Given the description of an element on the screen output the (x, y) to click on. 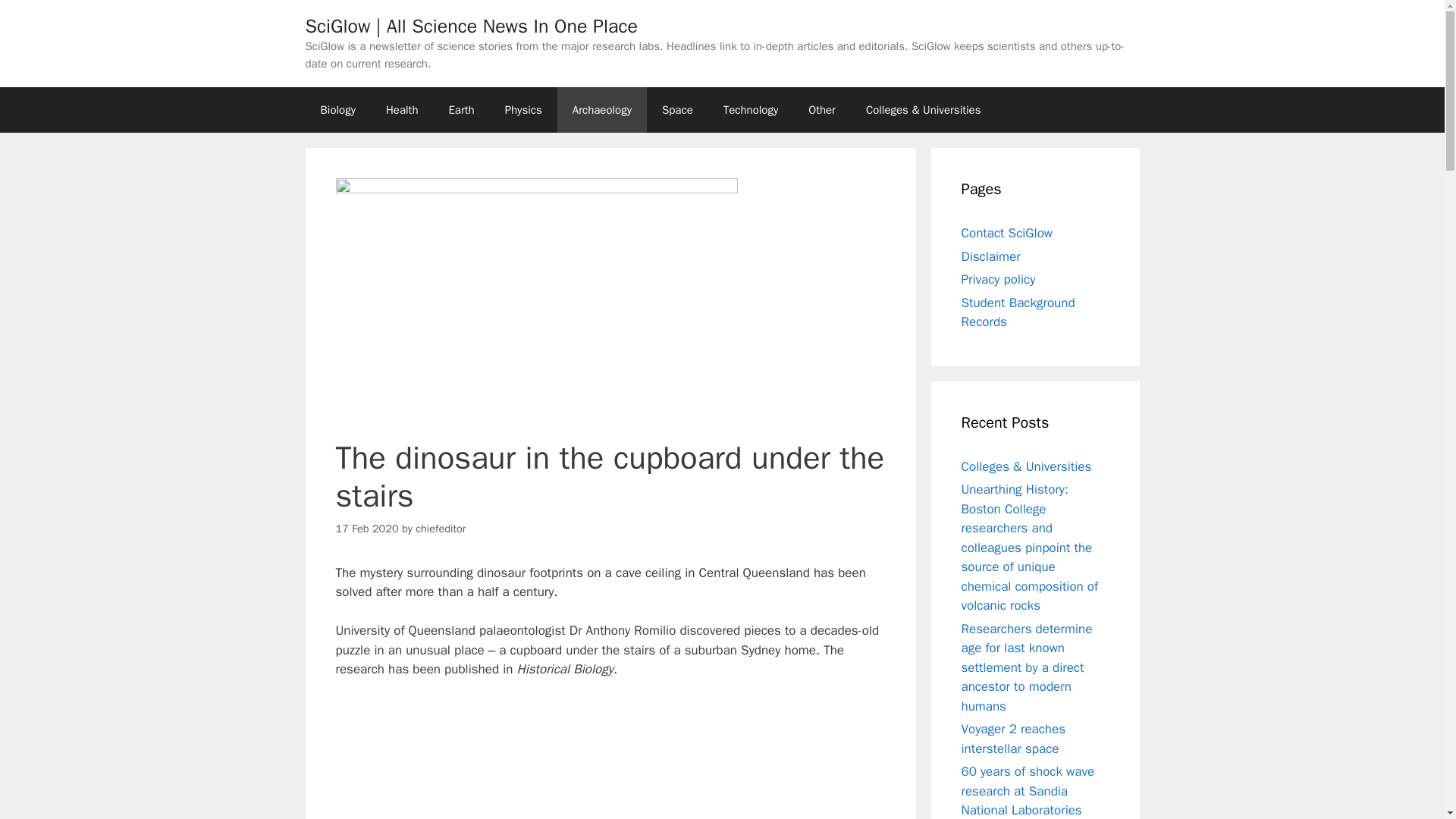
Privacy policy (997, 279)
Disclaimer (990, 256)
Voyager 2 reaches interstellar space (1012, 738)
Health (402, 109)
Technology (750, 109)
chiefeditor (439, 528)
Space (676, 109)
Other (821, 109)
Contact SciGlow (1006, 232)
Biology (336, 109)
Student Background Records (1017, 312)
Physics (523, 109)
